Given the description of an element on the screen output the (x, y) to click on. 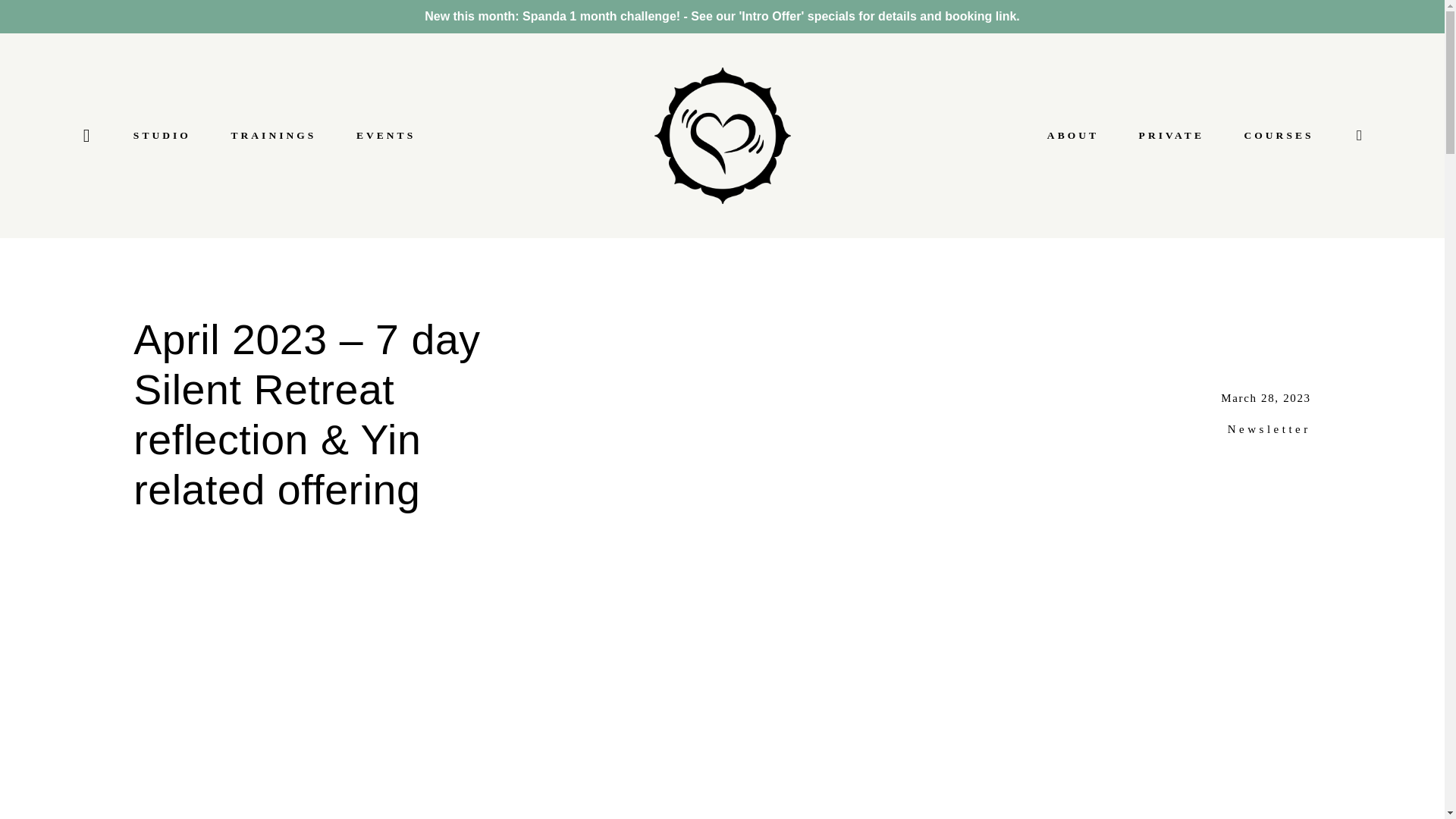
TRAININGS (272, 135)
ABOUT (1072, 135)
EVENTS (385, 135)
STUDIO (161, 135)
